Given the description of an element on the screen output the (x, y) to click on. 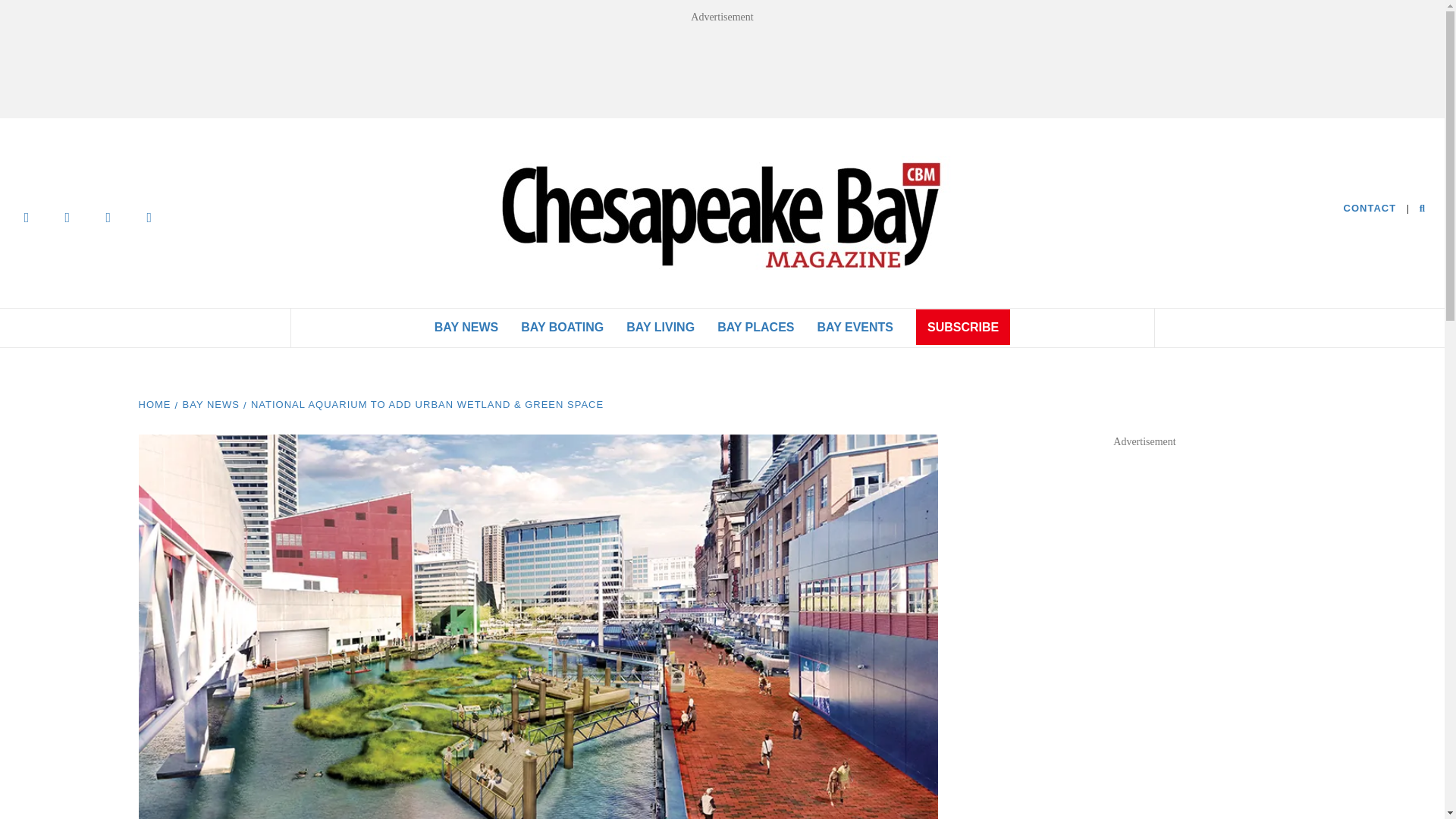
BAY LIVING (660, 327)
BAY BOATING (561, 327)
BAY NEWS (466, 327)
Facebook (26, 216)
3rd party ad content (721, 66)
Youtube (148, 216)
CHESAPEAKE BAY MAGAZINE (1082, 227)
CONTACT (1369, 208)
3rd party ad content (1144, 735)
3rd party ad content (1144, 552)
Twitter (67, 216)
BAY PLACES (755, 327)
Instagram (108, 216)
